Given the description of an element on the screen output the (x, y) to click on. 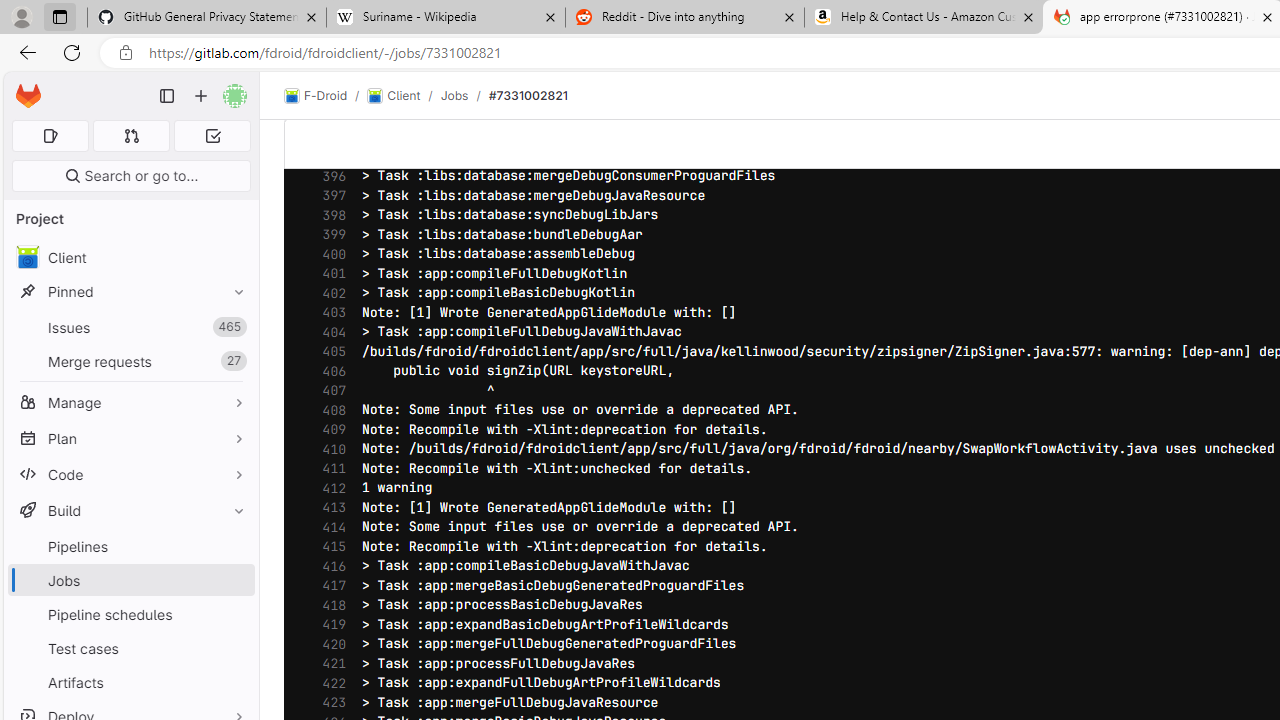
Pin Pipelines (234, 546)
420 (329, 644)
404 (329, 331)
Unpin Issues (234, 327)
Jobs (130, 579)
Merge requests27 (130, 361)
Primary navigation sidebar (167, 96)
397 (329, 195)
Pipeline schedules (130, 614)
396 (329, 176)
Code (130, 474)
